Given the description of an element on the screen output the (x, y) to click on. 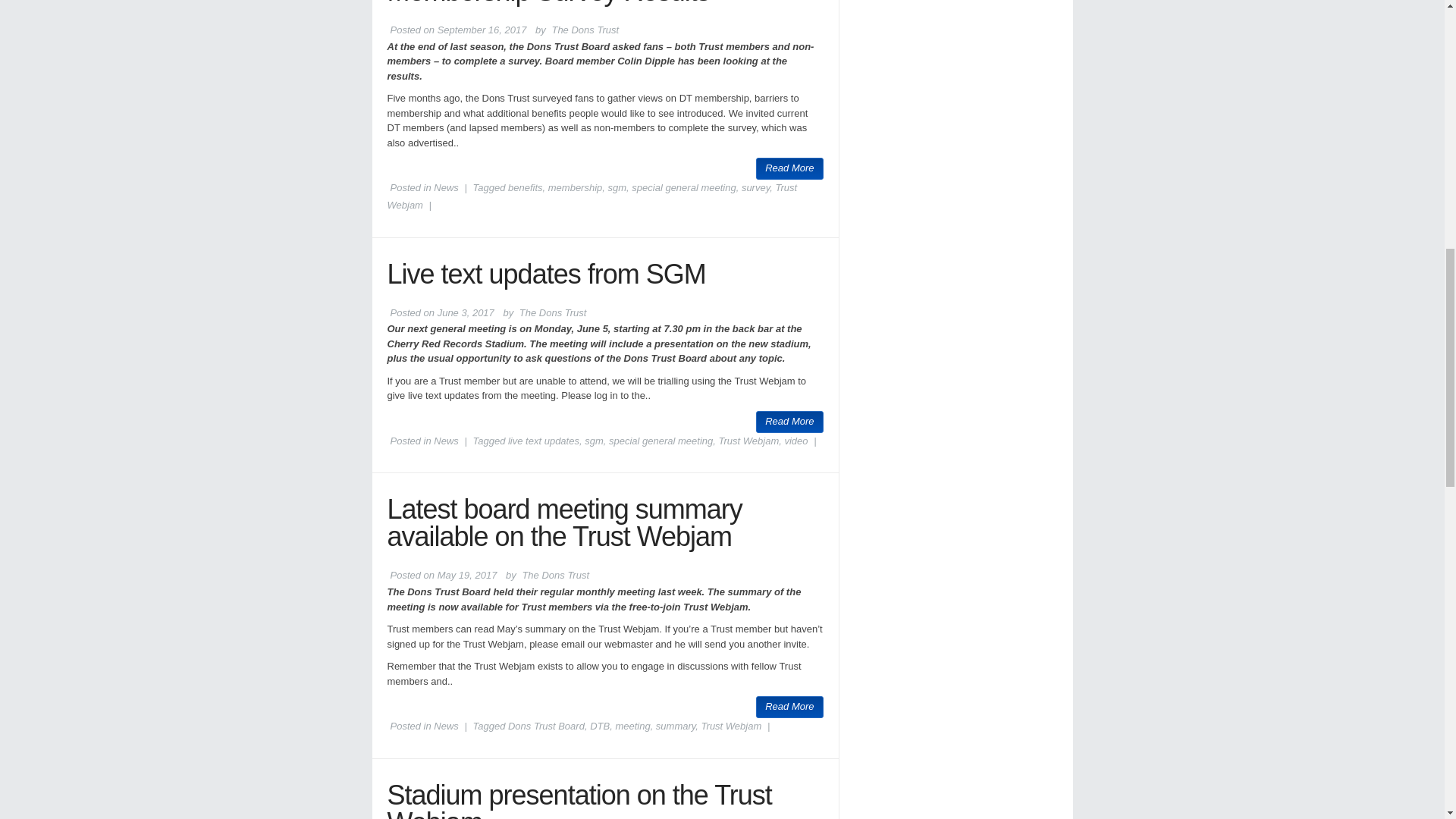
Permalink to Membership Survey Results (548, 3)
View all posts by The Dons Trust (584, 30)
11:48 (482, 30)
19:49 (466, 311)
Permalink to Live text updates from SGM (545, 273)
View all posts by The Dons Trust (552, 311)
18:58 (467, 574)
View all posts by The Dons Trust (555, 574)
